Given the description of an element on the screen output the (x, y) to click on. 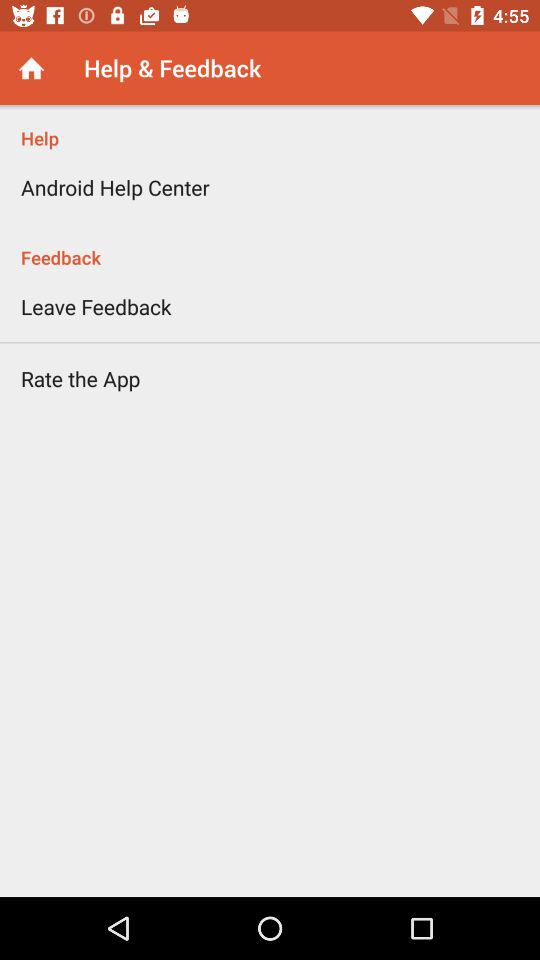
go home (31, 68)
